Given the description of an element on the screen output the (x, y) to click on. 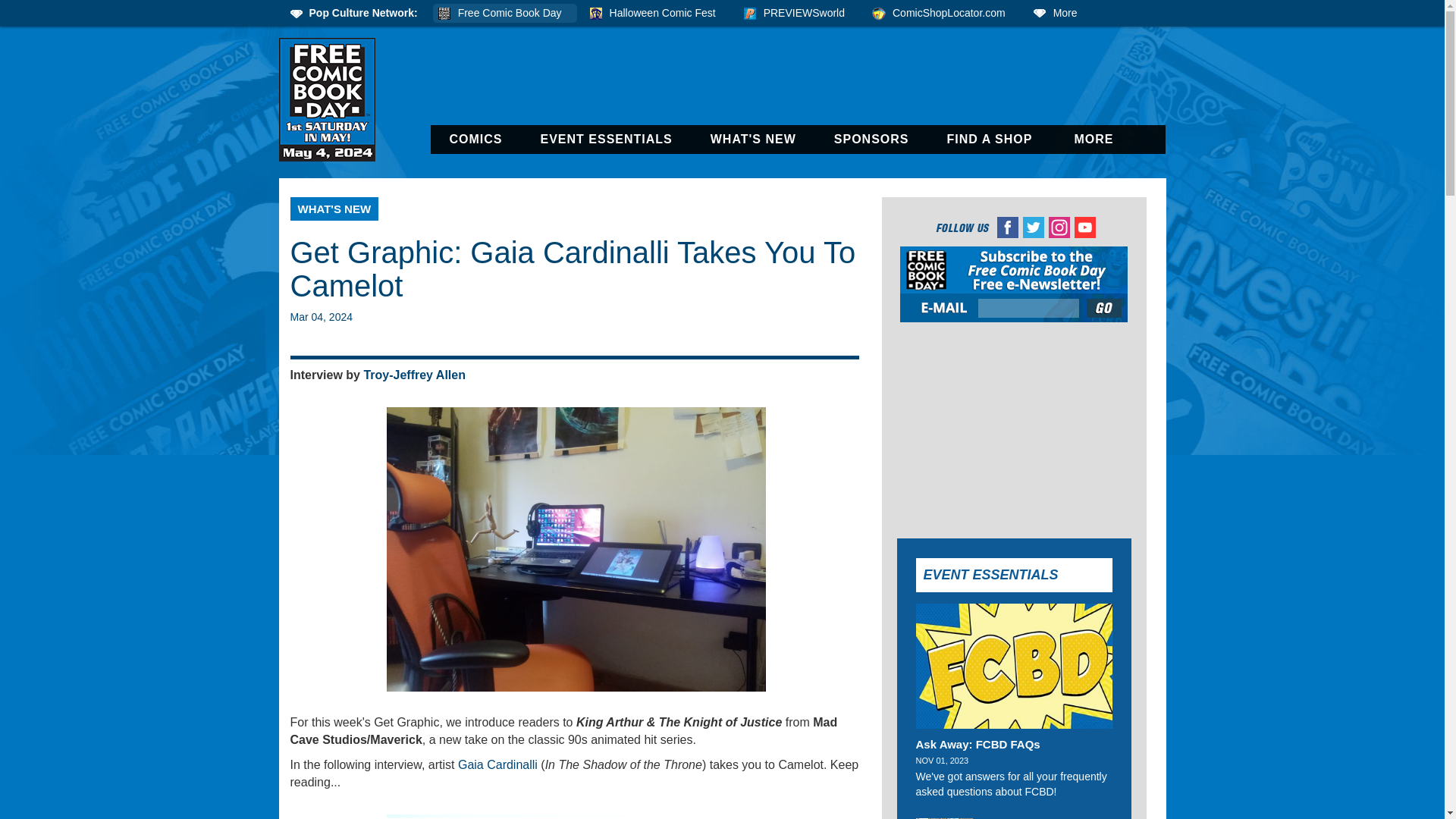
COMICS (475, 139)
Troy-Jeffrey Allen (413, 374)
SPONSORS (871, 139)
Join Our NewsLetter (1105, 307)
EVENT ESSENTIALS (606, 139)
PREVIEWSworld (799, 13)
MORE (1094, 139)
More (1060, 13)
3rd party ad content (1012, 428)
ComicShopLocator.com (943, 13)
FIND A SHOP (990, 139)
Gaia Cardinalli (497, 764)
Email Address Input for Newsletter Signup (1028, 307)
Halloween Comic Fest (657, 13)
WHAT'S NEW (333, 208)
